Given the description of an element on the screen output the (x, y) to click on. 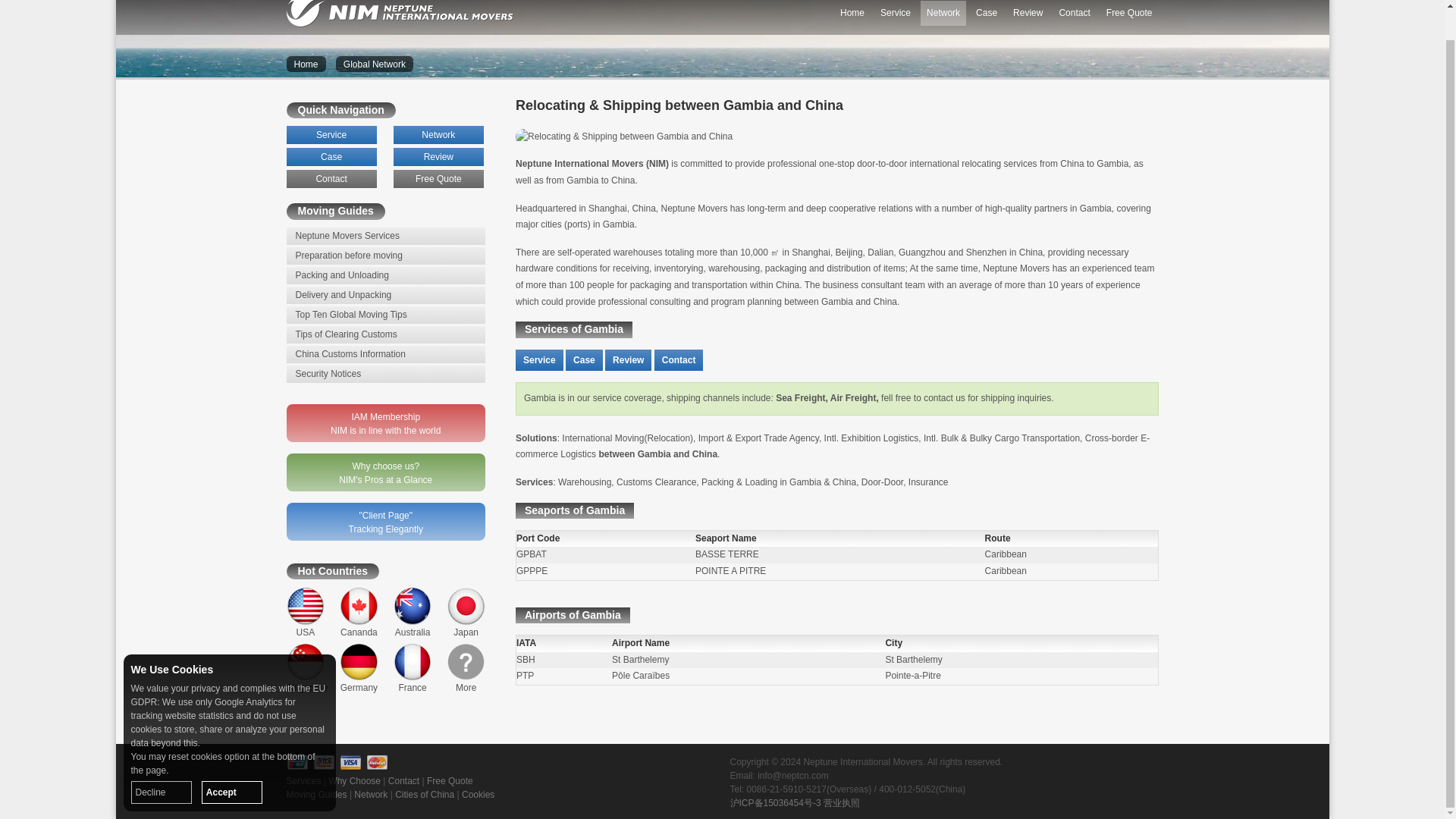
China Customs Information (386, 354)
Contact (1074, 12)
Tips of Clearing Customs (386, 334)
Contact (331, 178)
Free Quote (1129, 12)
Service (331, 135)
Delivery and Unpacking (386, 294)
Review (438, 157)
Security Notices (386, 374)
Review (627, 360)
Service (896, 12)
Neptune Movers Services (386, 235)
Home (852, 12)
Case (584, 360)
Network (943, 12)
